Given the description of an element on the screen output the (x, y) to click on. 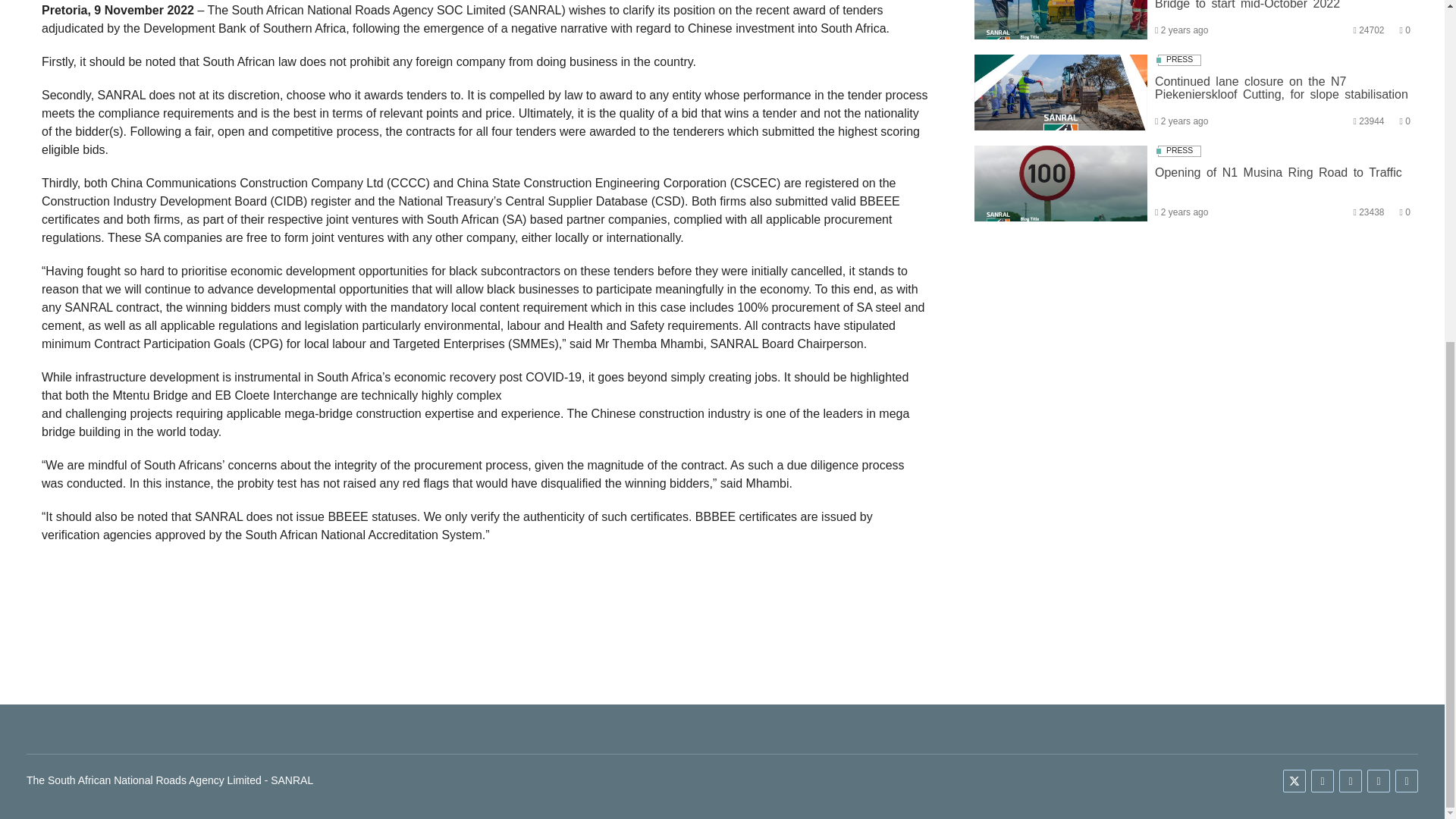
Page 2 (485, 474)
